Given the description of an element on the screen output the (x, y) to click on. 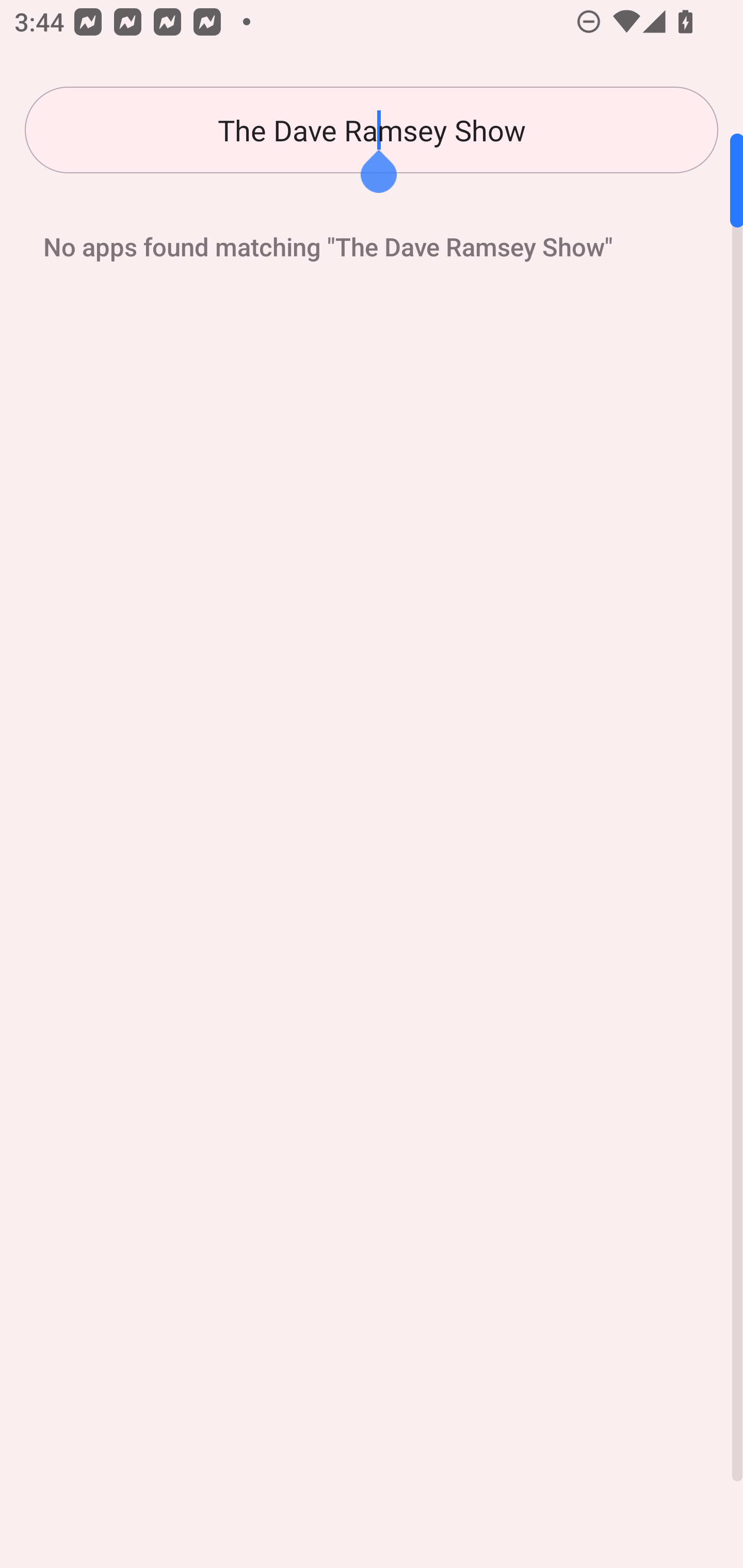
The Dave Ramsey Show (371, 130)
